Given the description of an element on the screen output the (x, y) to click on. 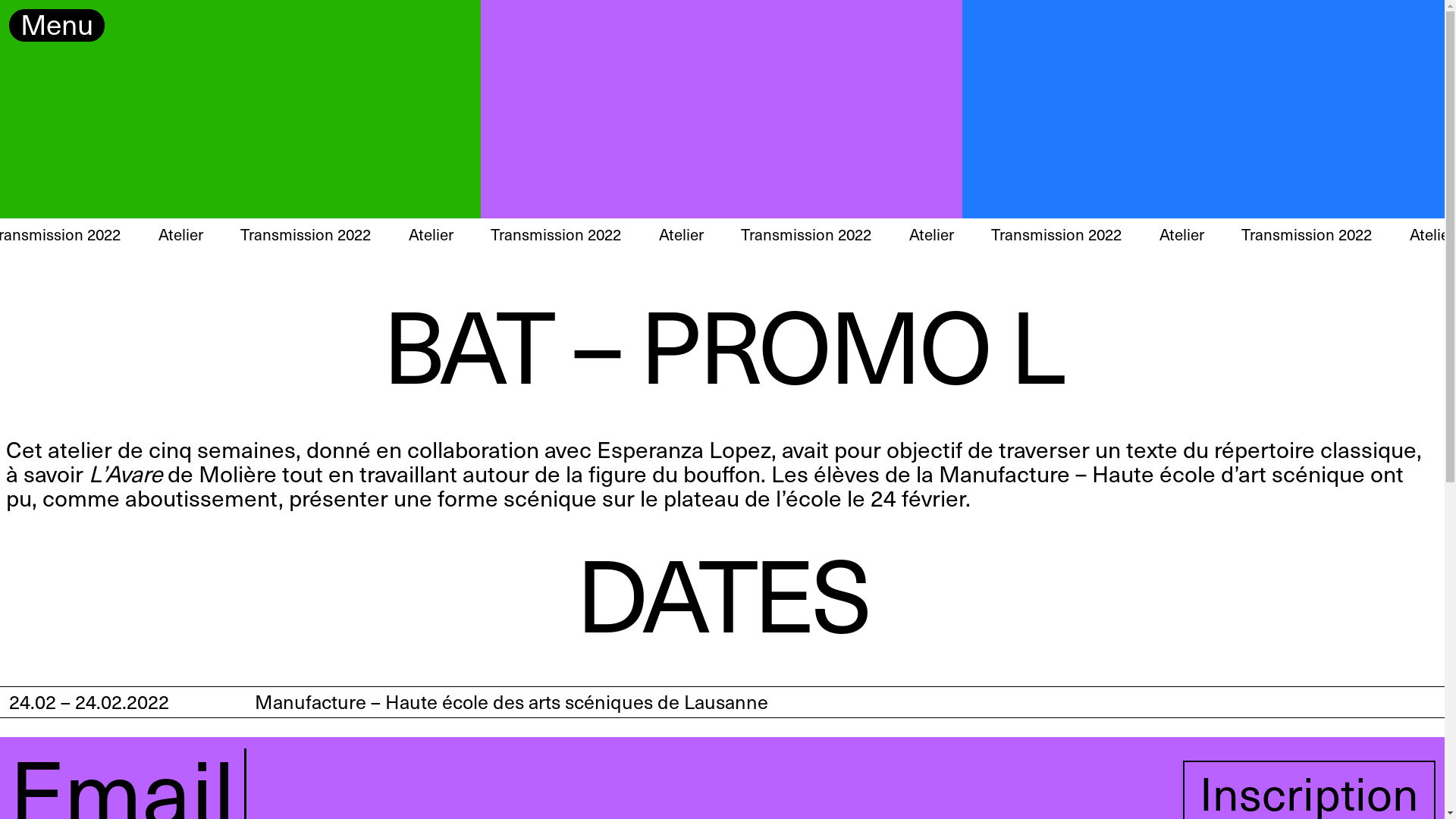
Menu Element type: text (56, 25)
